Given the description of an element on the screen output the (x, y) to click on. 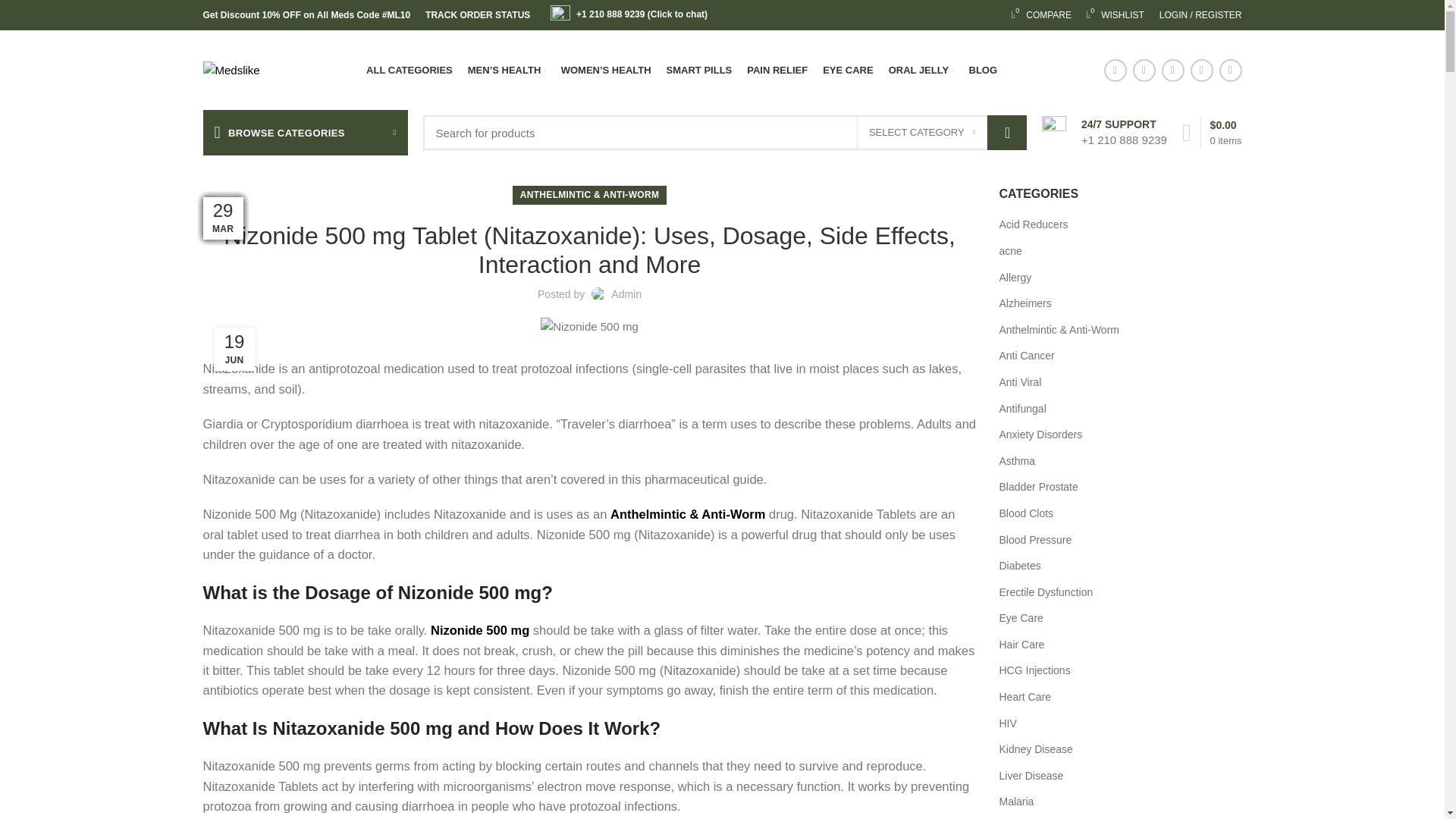
SELECT CATEGORY (1041, 15)
My account (922, 132)
SMART PILLS (1200, 15)
Compare products (1114, 15)
ALL CATEGORIES (699, 69)
PAIN RELIEF (1041, 15)
My Wishlist (409, 69)
TRACK ORDER STATUS (777, 69)
